Given the description of an element on the screen output the (x, y) to click on. 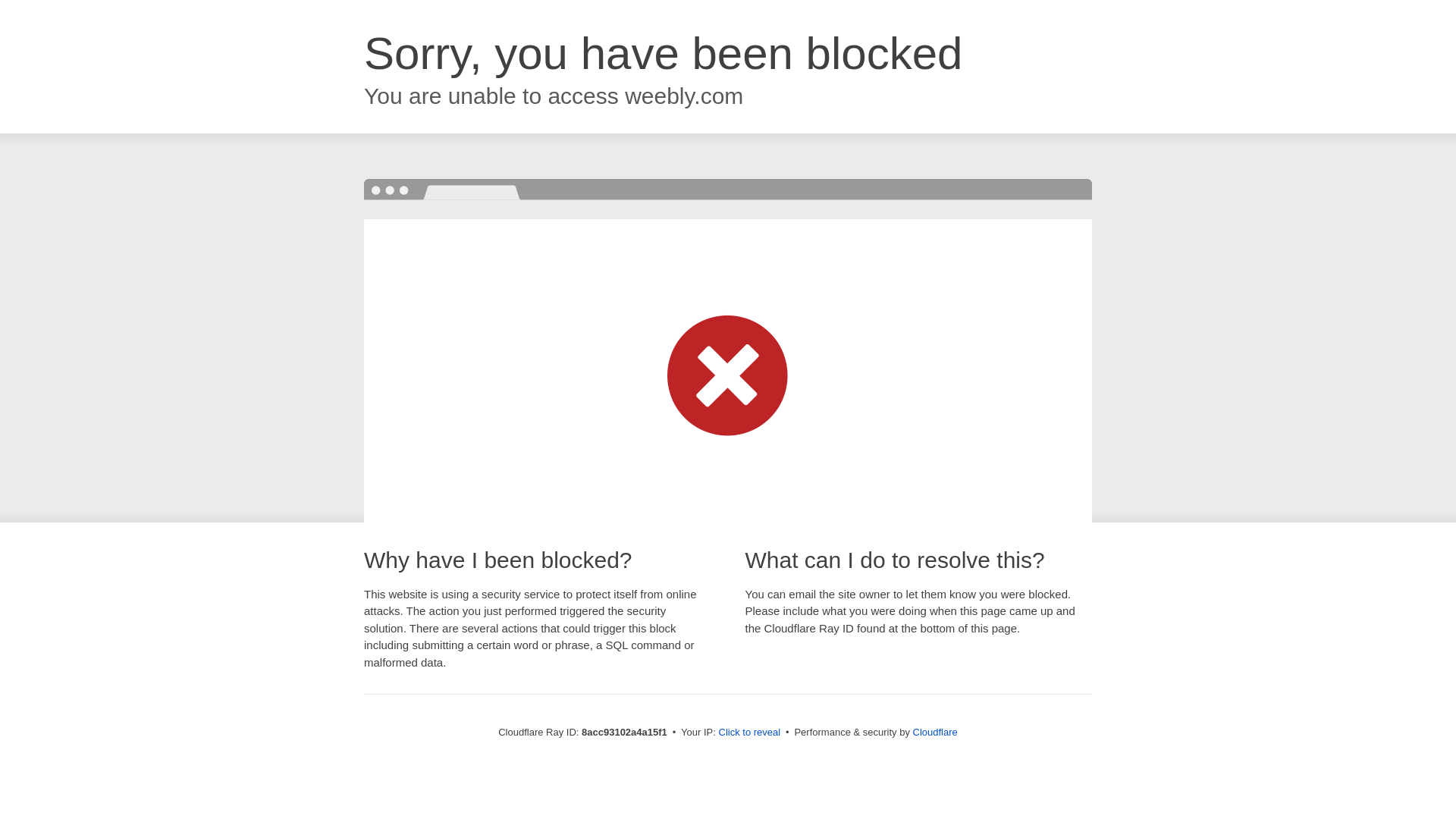
Click to reveal (749, 732)
Cloudflare (935, 731)
